Given the description of an element on the screen output the (x, y) to click on. 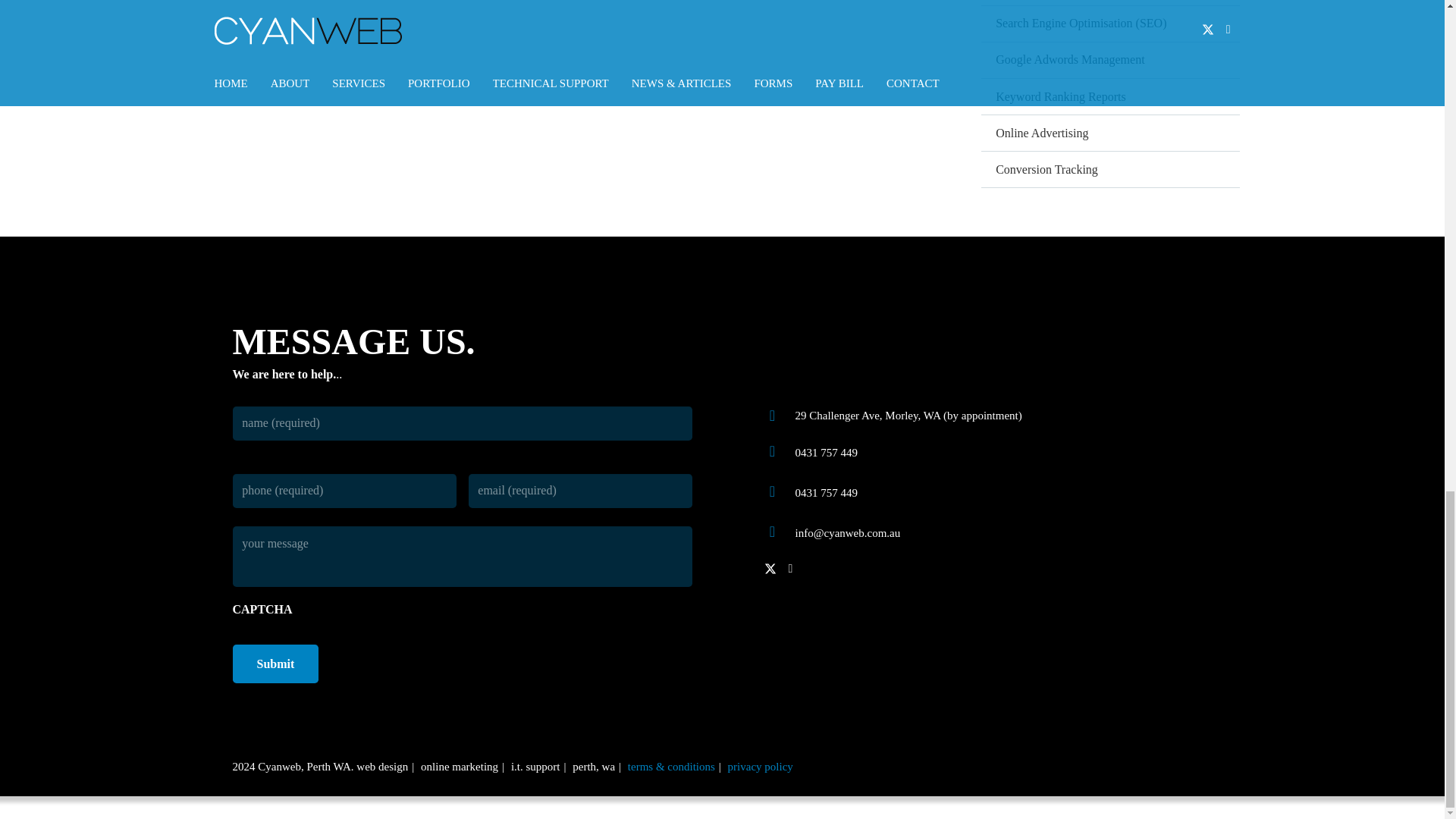
Google Adwords Management (1110, 59)
Twitter (770, 568)
Facebook (791, 568)
Keyword Ranking Reports (1110, 95)
Submit (274, 663)
Conversion Tracking (1110, 168)
Submit (274, 663)
Online Advertising (1110, 132)
